Given the description of an element on the screen output the (x, y) to click on. 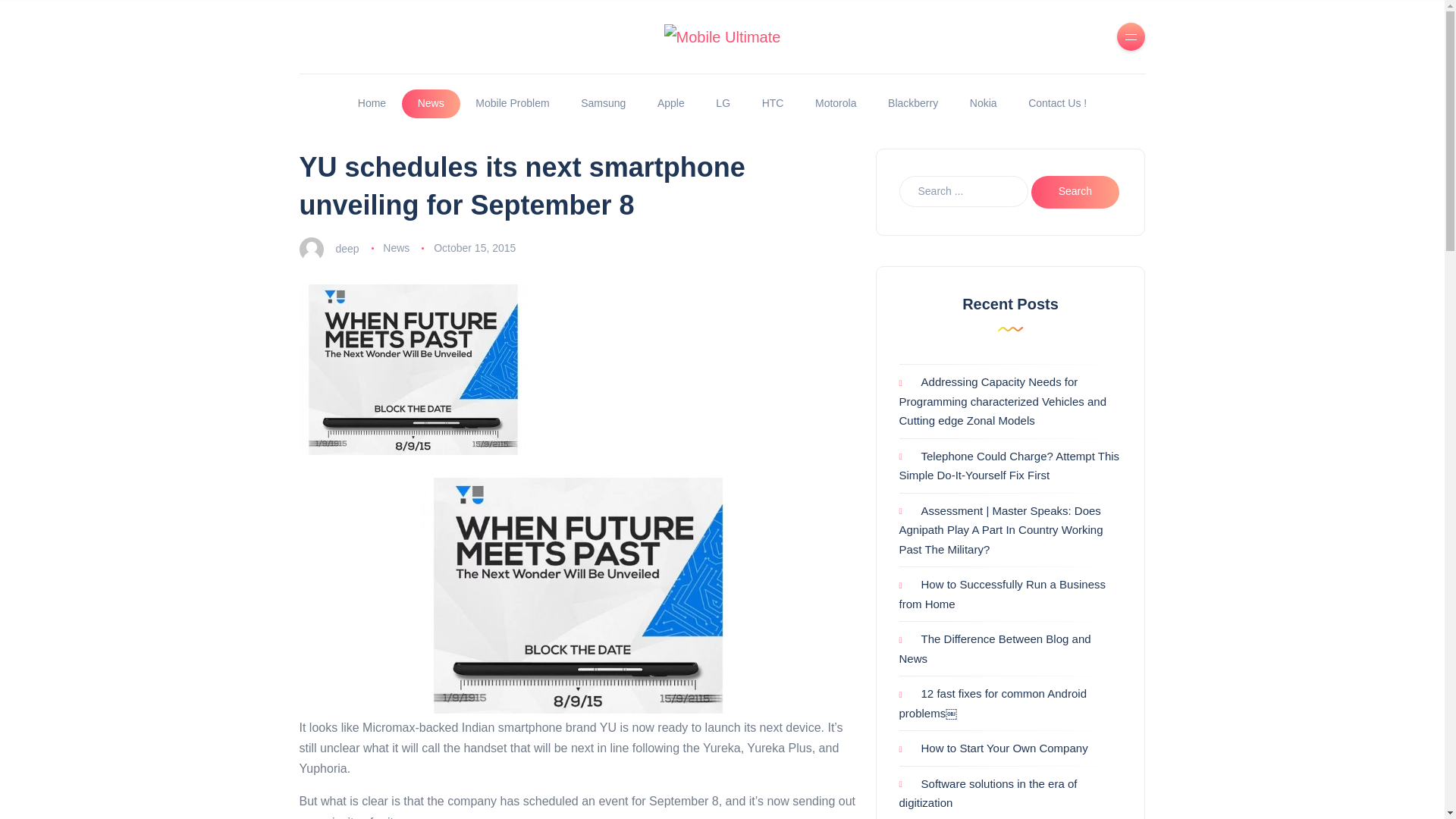
Mobile Problem (513, 103)
Motorola (835, 103)
The Difference Between Blog and News (994, 648)
News (395, 247)
Home (371, 103)
Nokia (982, 103)
Search (1074, 192)
How to Start Your Own Company (993, 748)
LG (722, 103)
